Given the description of an element on the screen output the (x, y) to click on. 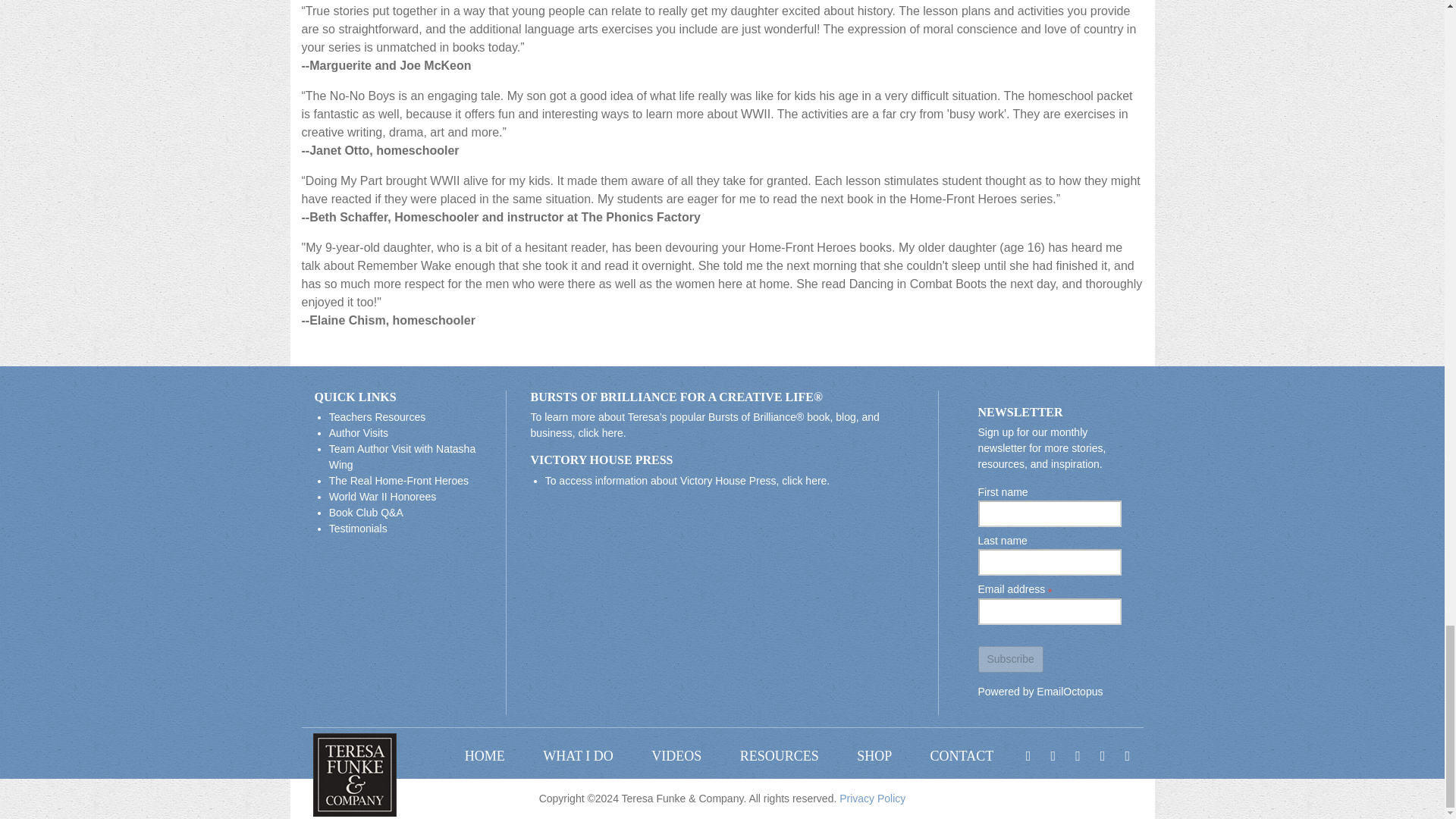
Videos (675, 756)
Resources (778, 756)
Home (484, 756)
Contact (961, 756)
What I Do (577, 756)
Teachers Resources (377, 417)
Shop (874, 756)
